Given the description of an element on the screen output the (x, y) to click on. 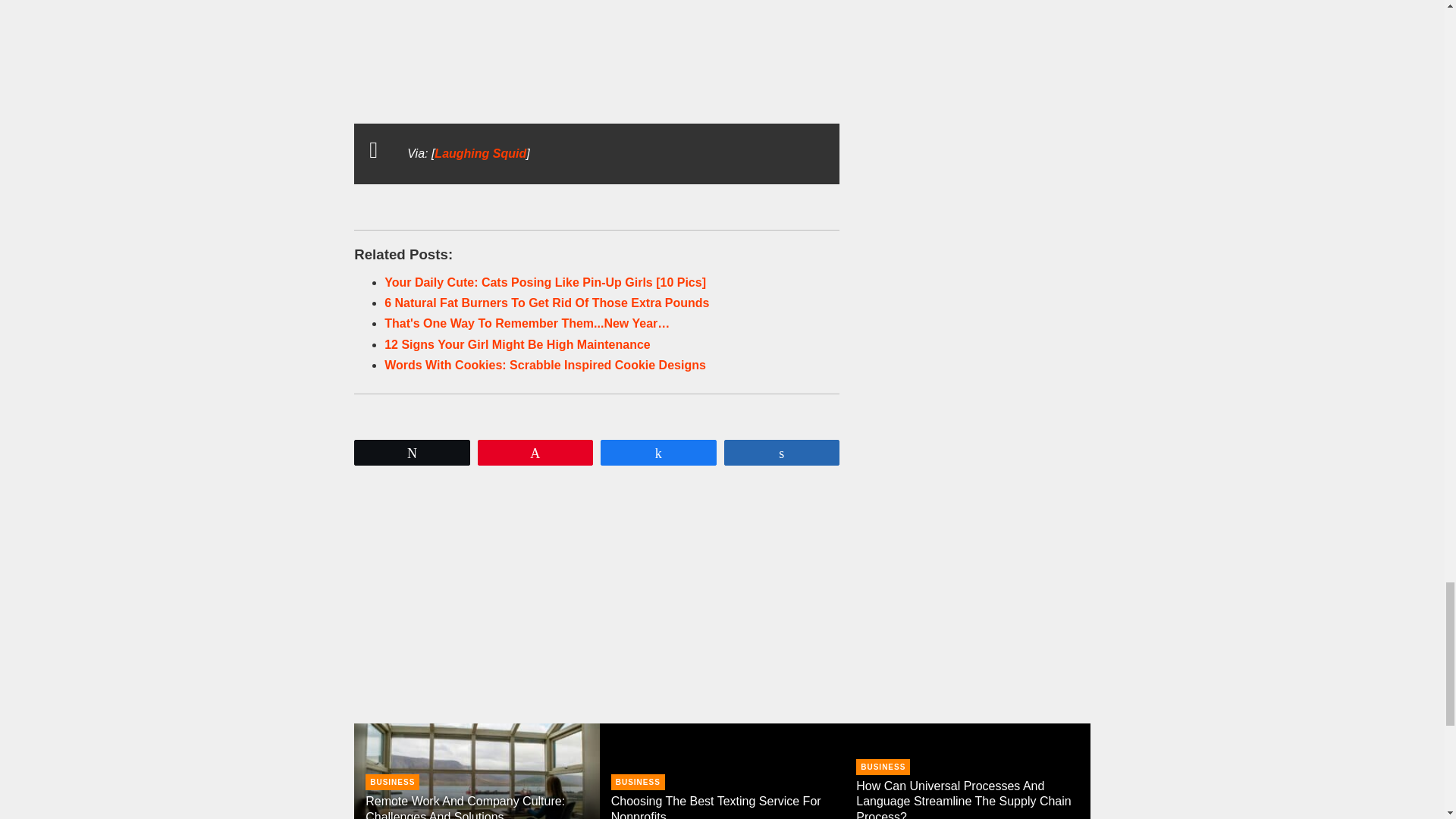
Fat Cookies Homemade Kitchen Business (596, 51)
Fat Cookies Sells From Window (479, 153)
